Given the description of an element on the screen output the (x, y) to click on. 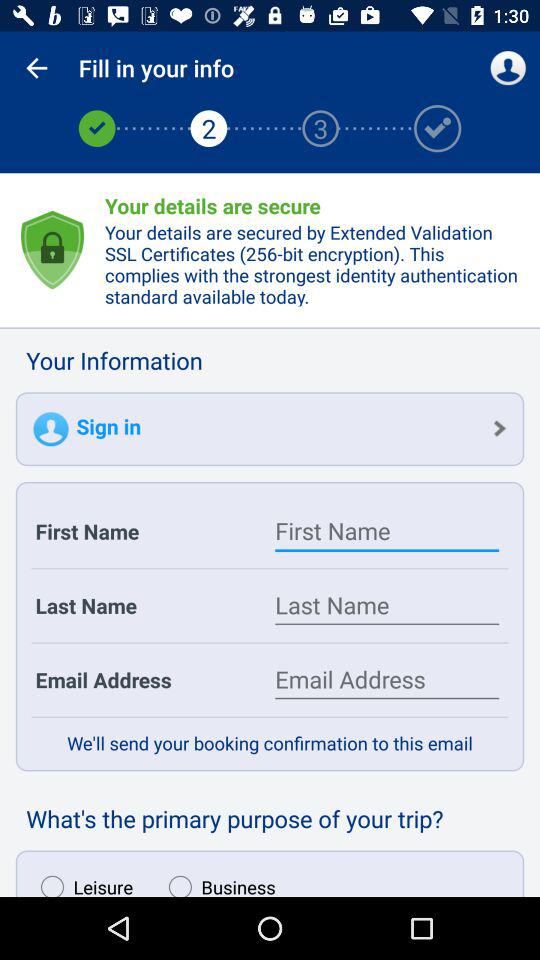
choose business (217, 881)
